Given the description of an element on the screen output the (x, y) to click on. 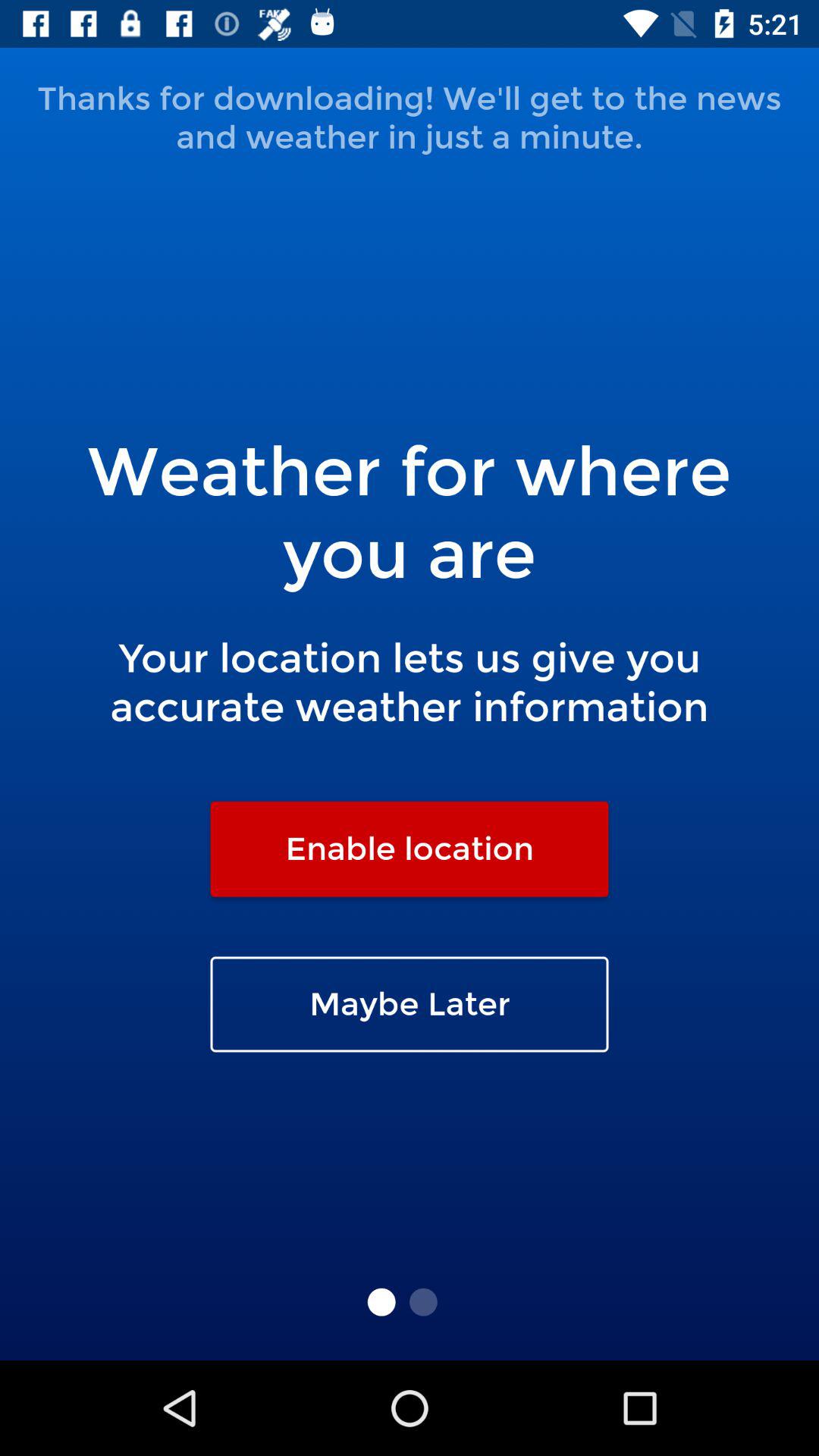
launch the maybe later icon (409, 1004)
